Given the description of an element on the screen output the (x, y) to click on. 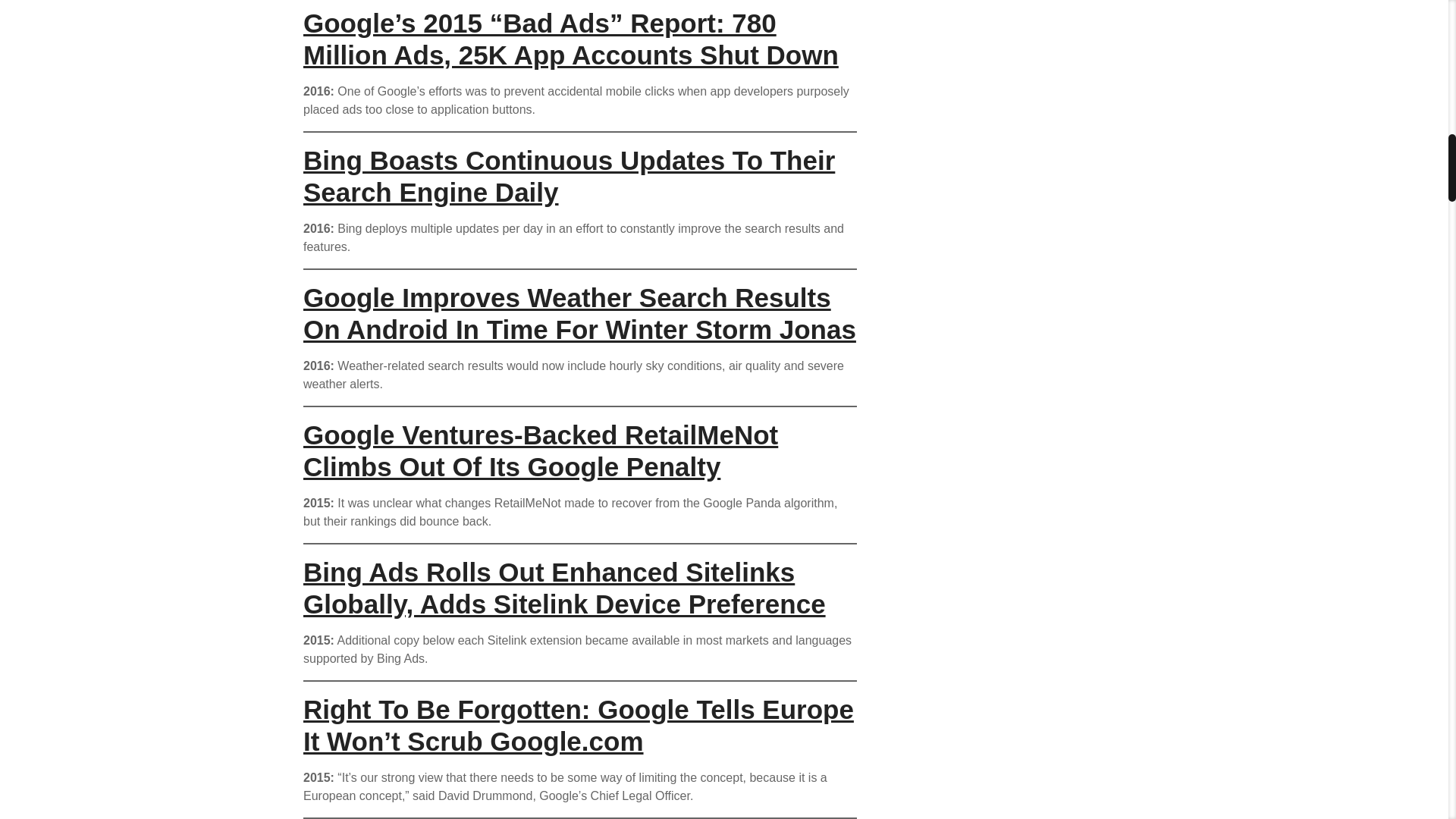
Bing Boasts Continuous Updates To Their Search Engine Daily (568, 176)
